Given the description of an element on the screen output the (x, y) to click on. 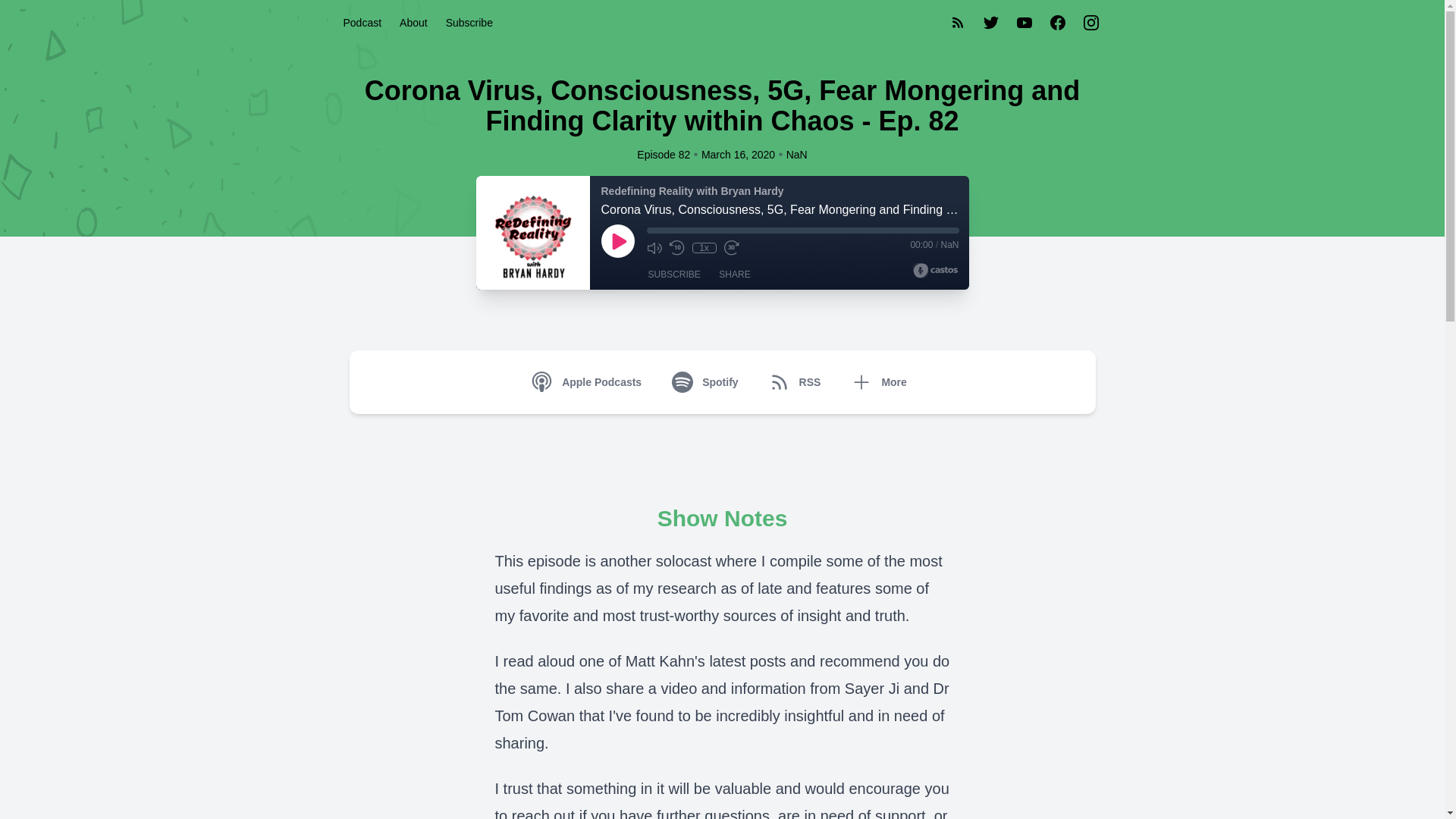
About (413, 22)
More (881, 382)
SUBSCRIBE (673, 273)
Seek (802, 230)
Podcast (361, 22)
SHARE (734, 273)
Subscribe (469, 22)
Apple Podcasts (589, 382)
RSS (797, 382)
Spotify (707, 382)
